Given the description of an element on the screen output the (x, y) to click on. 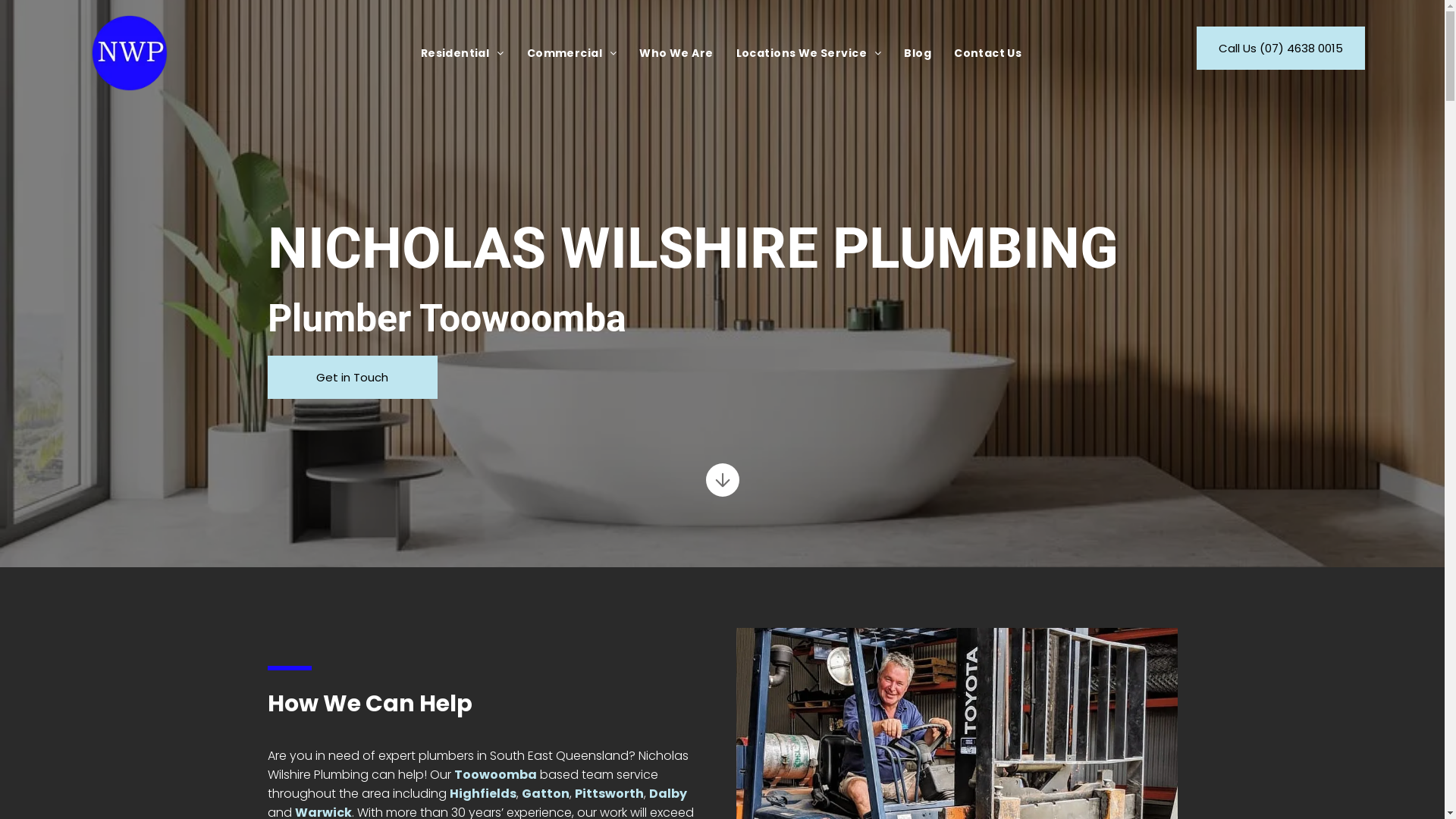
Gatton Element type: text (545, 792)
Contact Us Element type: text (987, 53)
Pittsworth Element type: text (608, 792)
Highfields Element type: text (481, 792)
Who We Are Element type: text (675, 53)
Toowoomba Element type: text (494, 774)
Residential Element type: text (462, 53)
Call Us (07) 4638 0015 Element type: text (1280, 47)
Dalby Element type: text (668, 792)
Commercial Element type: text (571, 53)
Get in Touch Element type: text (351, 376)
Nicholas Wilshire Plumbing Element type: hover (129, 53)
Locations We Service Element type: text (808, 53)
Blog Element type: text (917, 53)
